Given the description of an element on the screen output the (x, y) to click on. 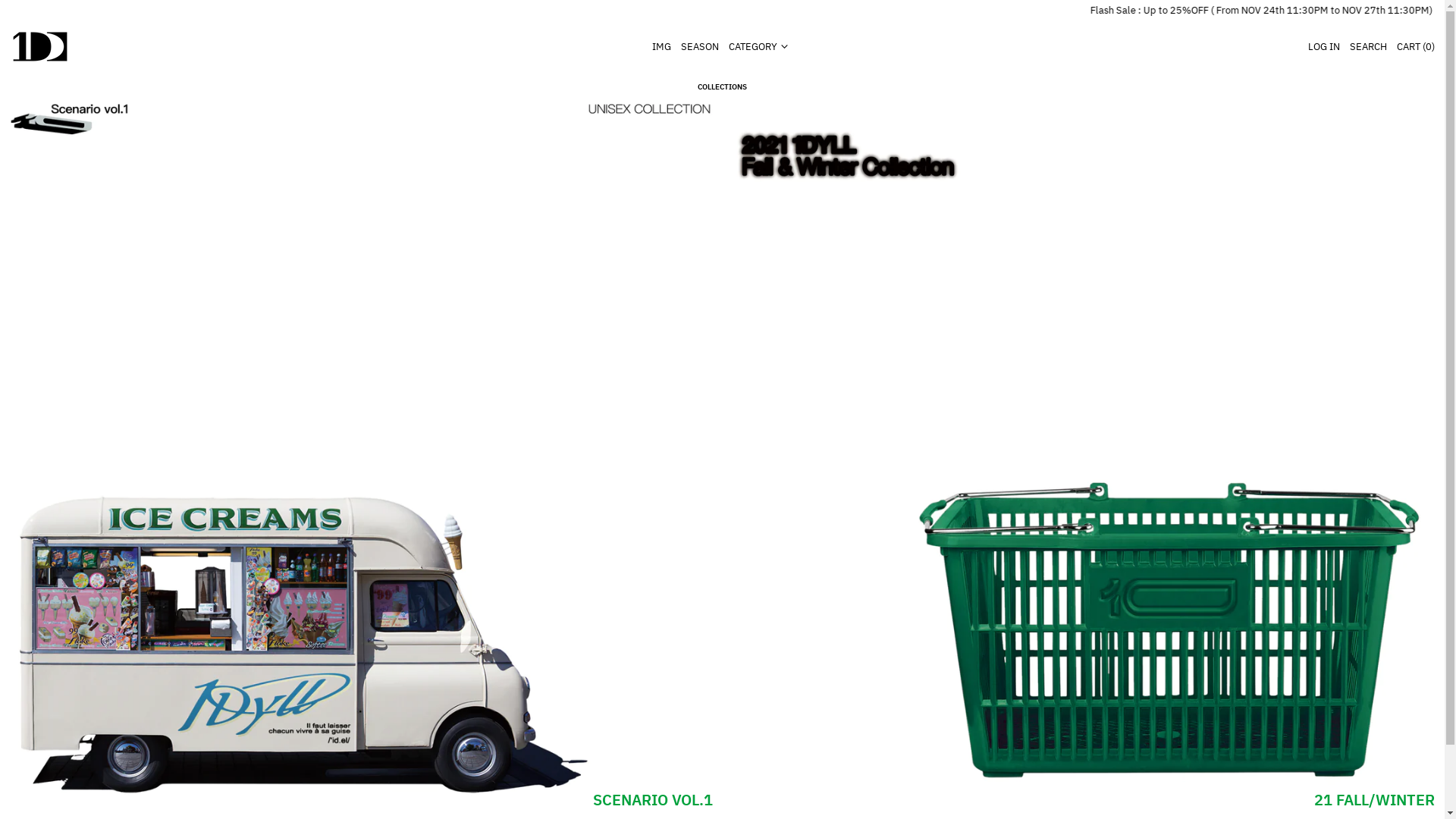
CATEGORY Element type: text (760, 46)
SEARCH Element type: text (1367, 46)
IMG Element type: text (661, 46)
SEASON Element type: text (699, 46)
CART (0) Element type: text (1415, 46)
LOG IN Element type: text (1323, 46)
